Given the description of an element on the screen output the (x, y) to click on. 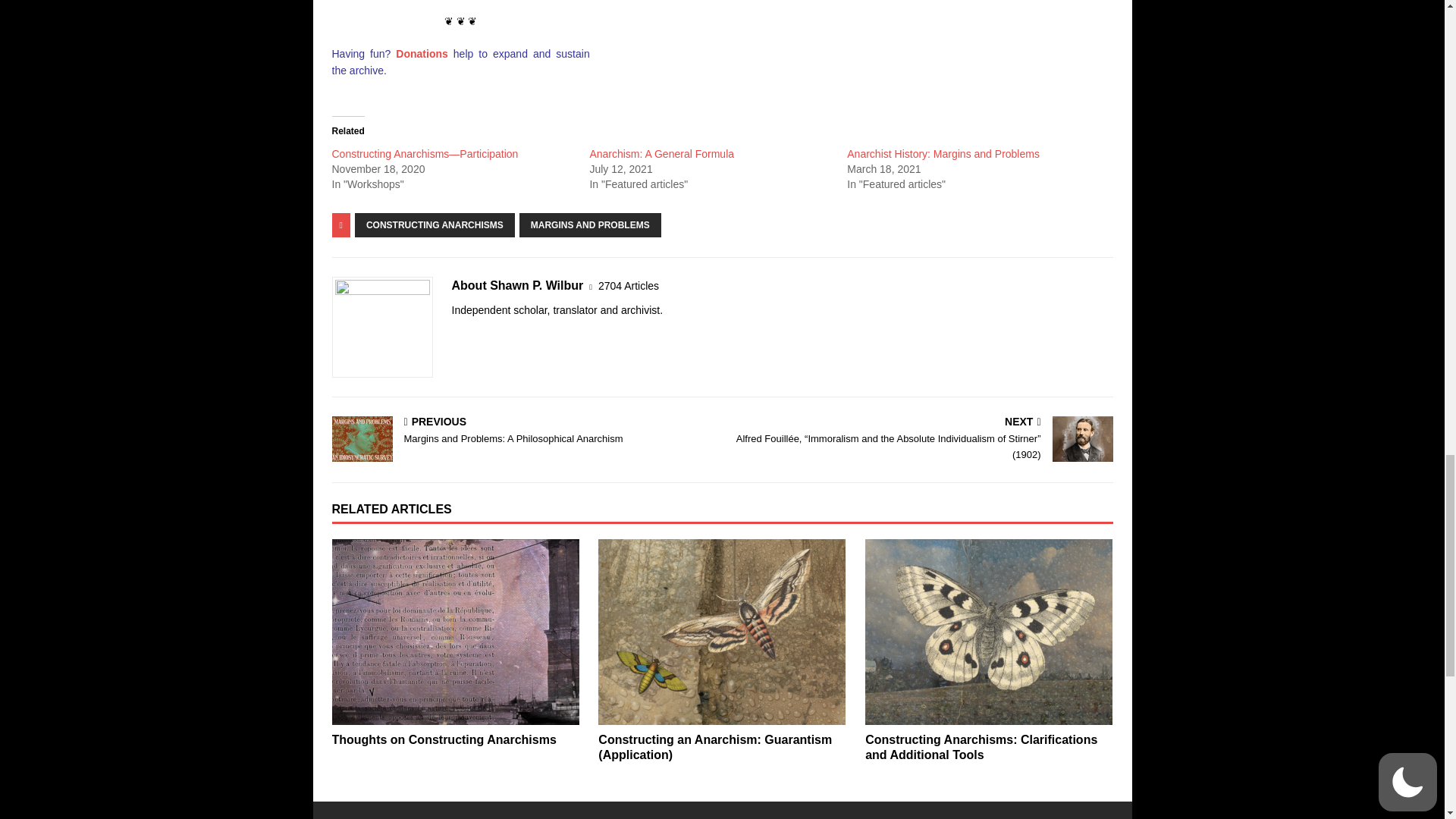
Anarchism: A General Formula (661, 153)
Thoughts on Constructing Anarchisms (455, 631)
Thoughts on Constructing Anarchisms (443, 739)
More articles written by Shawn P. Wilbur' (628, 286)
Anarchist History: Margins and Problems (943, 153)
